Given the description of an element on the screen output the (x, y) to click on. 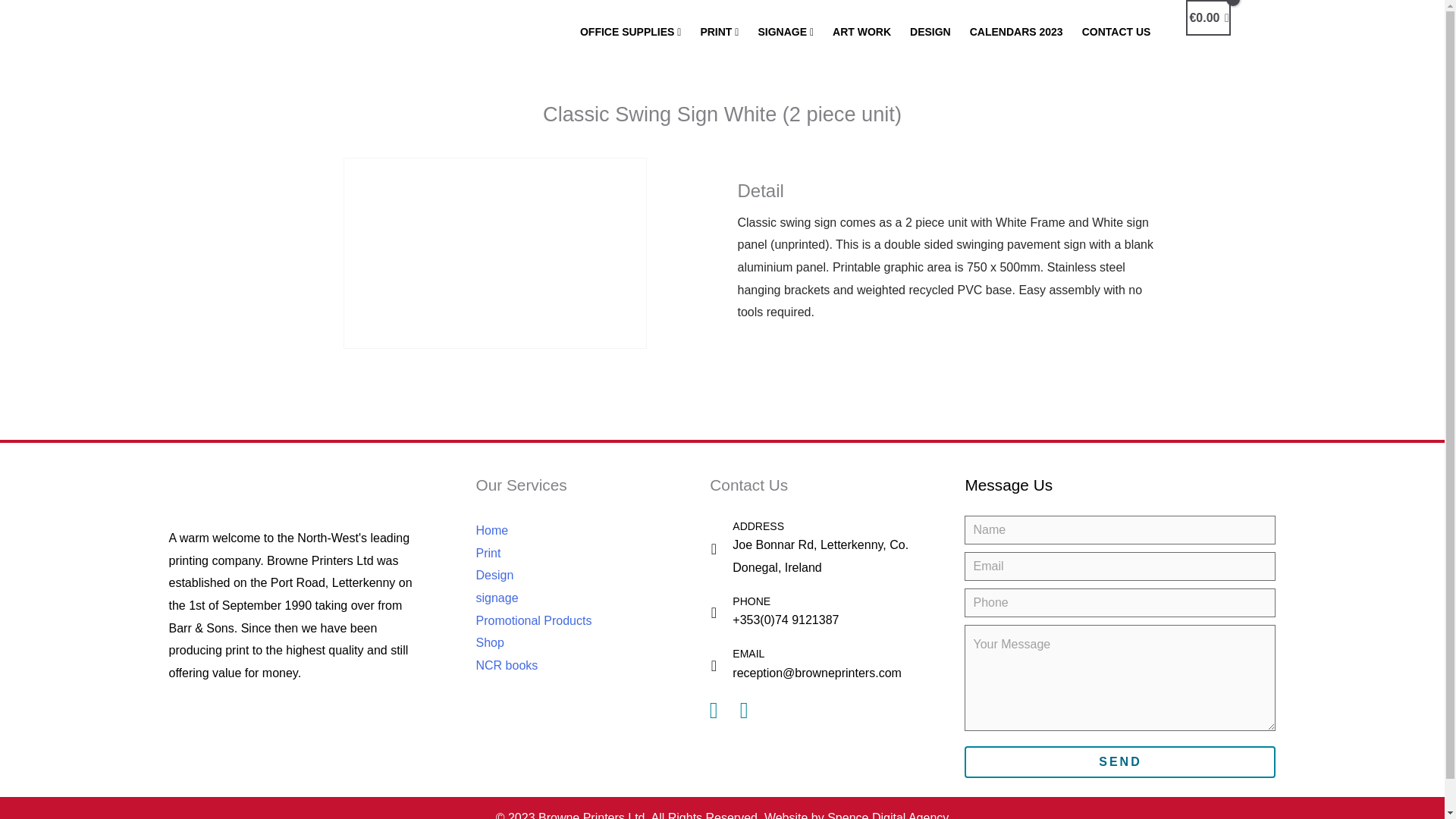
browneprinters-signage-logo (332, 40)
OFFICE SUPPLIES (632, 32)
